Given the description of an element on the screen output the (x, y) to click on. 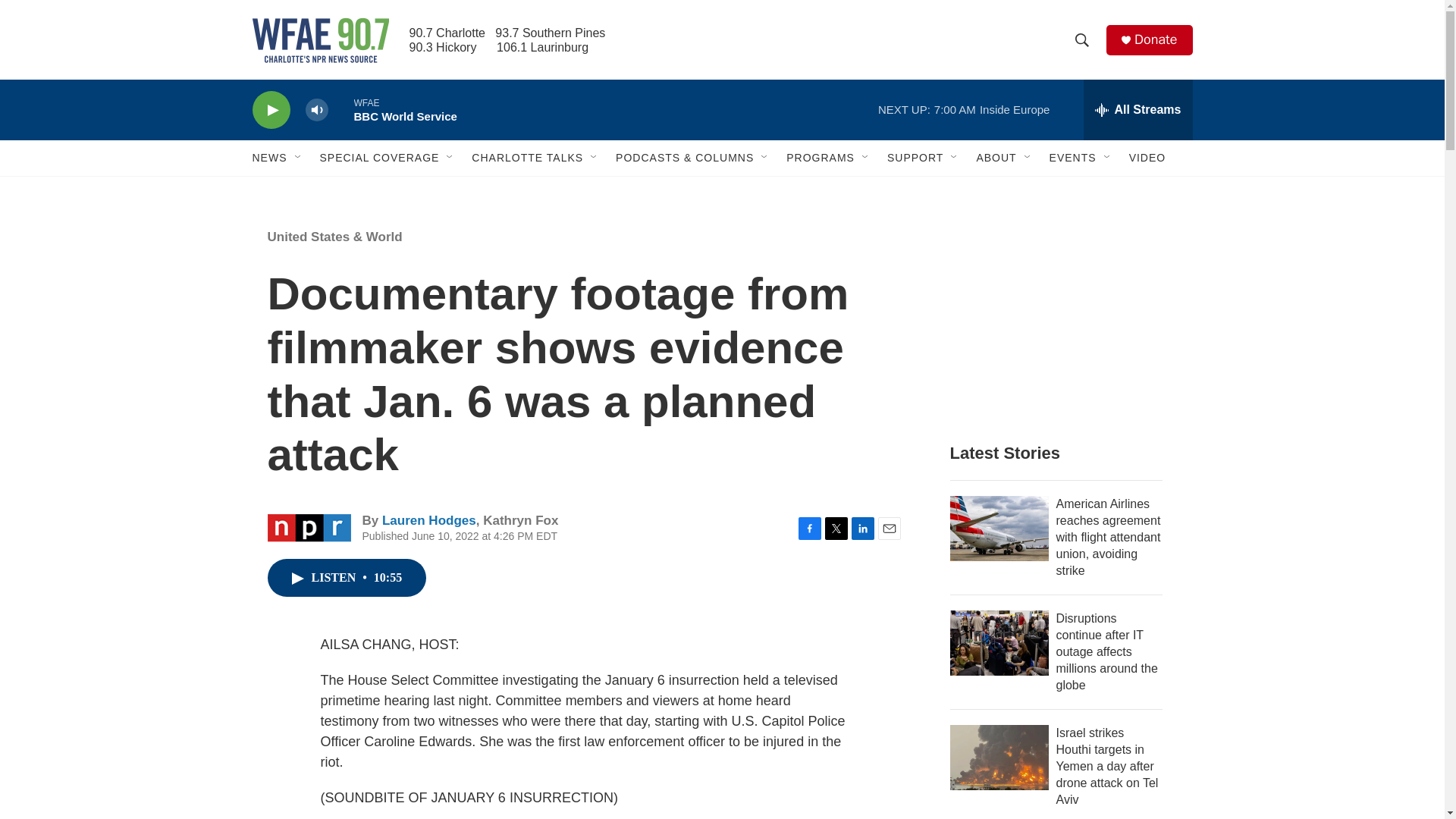
3rd party ad content (1062, 316)
